Given the description of an element on the screen output the (x, y) to click on. 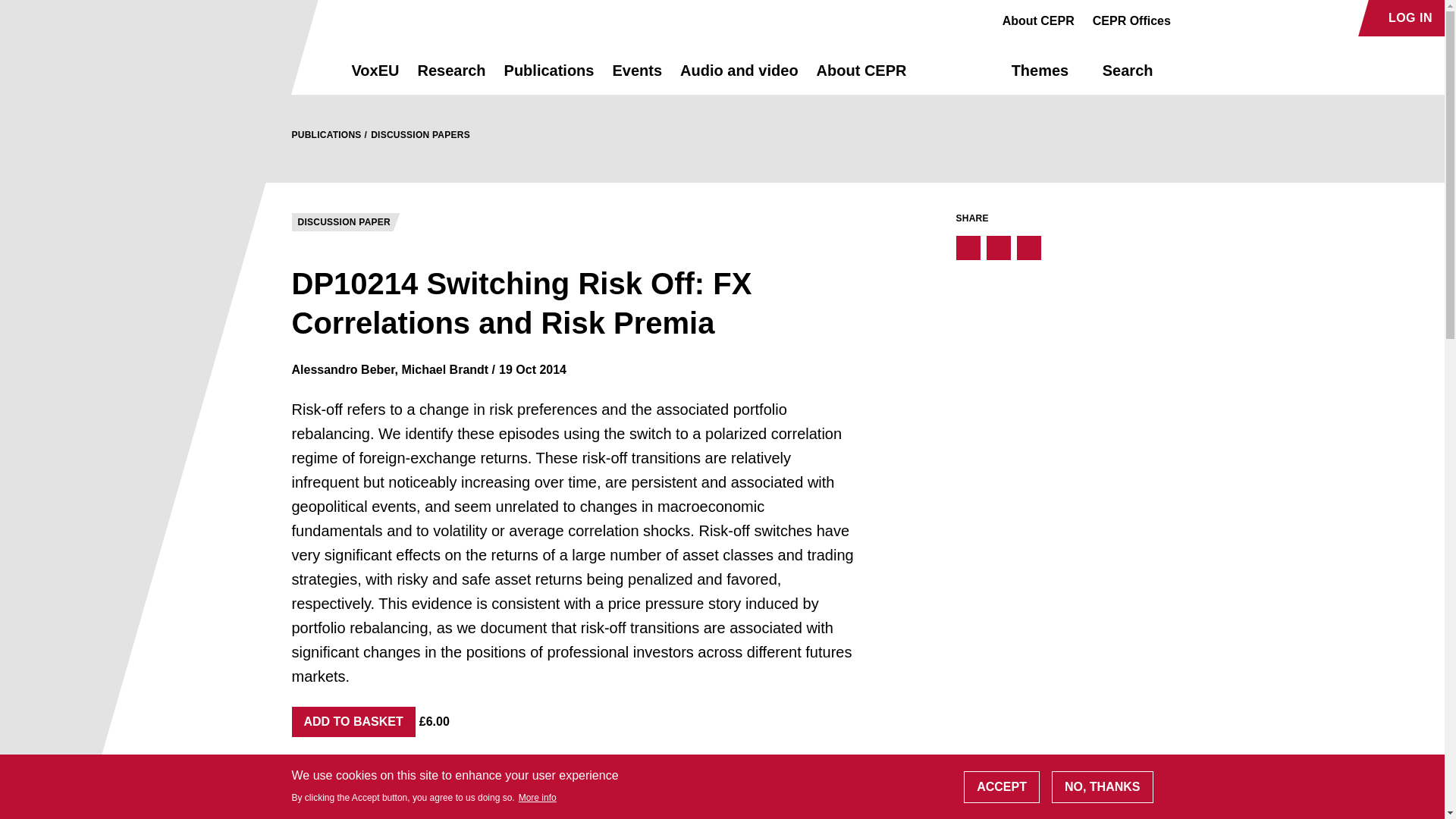
Add to basket (352, 721)
Audio and video (738, 77)
Go to Facebook profile (1190, 17)
Research (450, 77)
Go to Linkedin profile (1243, 18)
Publications (548, 77)
Events (636, 77)
VoxEU (375, 77)
Return to the homepage (293, 69)
